Given the description of an element on the screen output the (x, y) to click on. 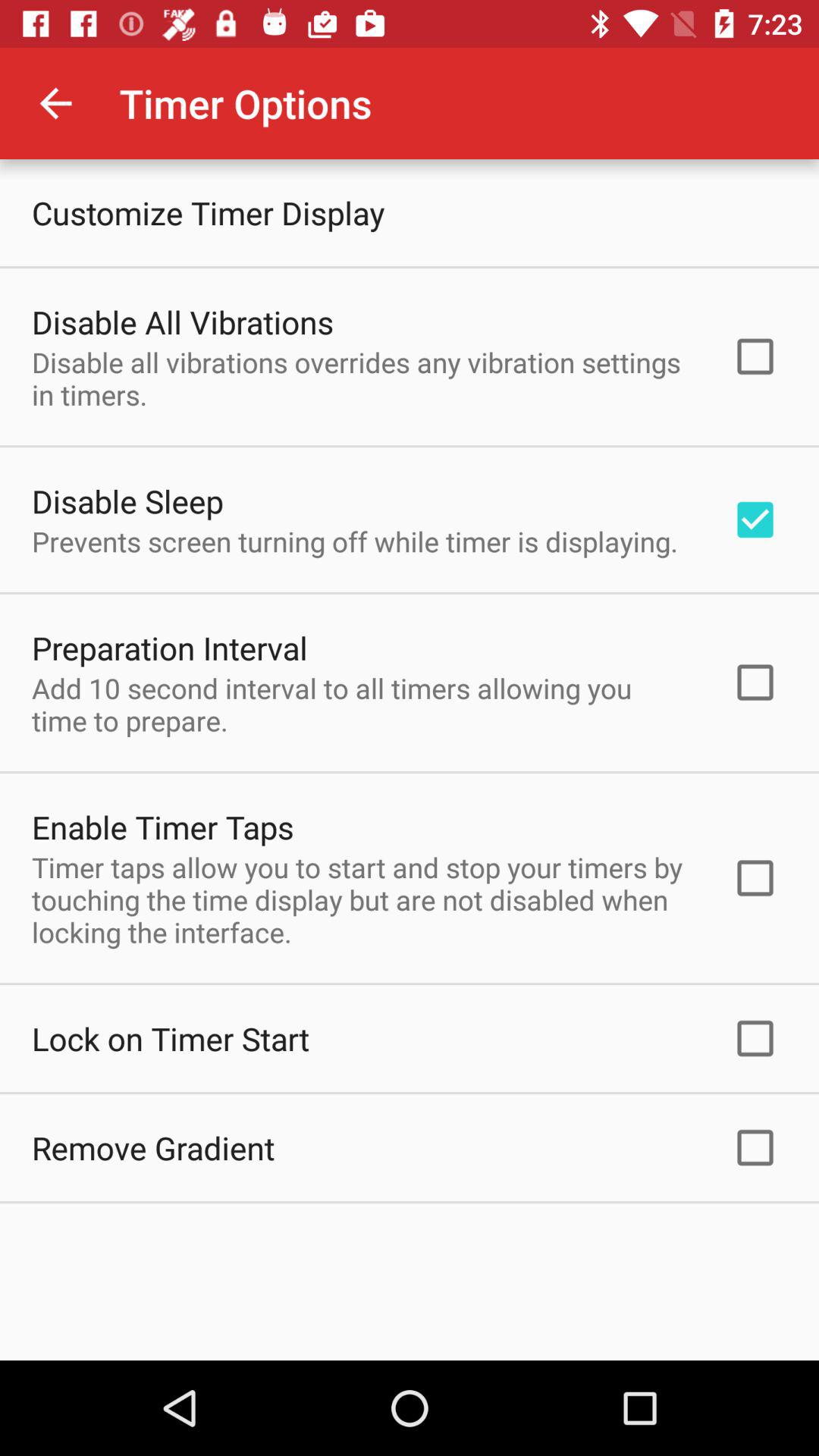
click lock on timer icon (170, 1038)
